Given the description of an element on the screen output the (x, y) to click on. 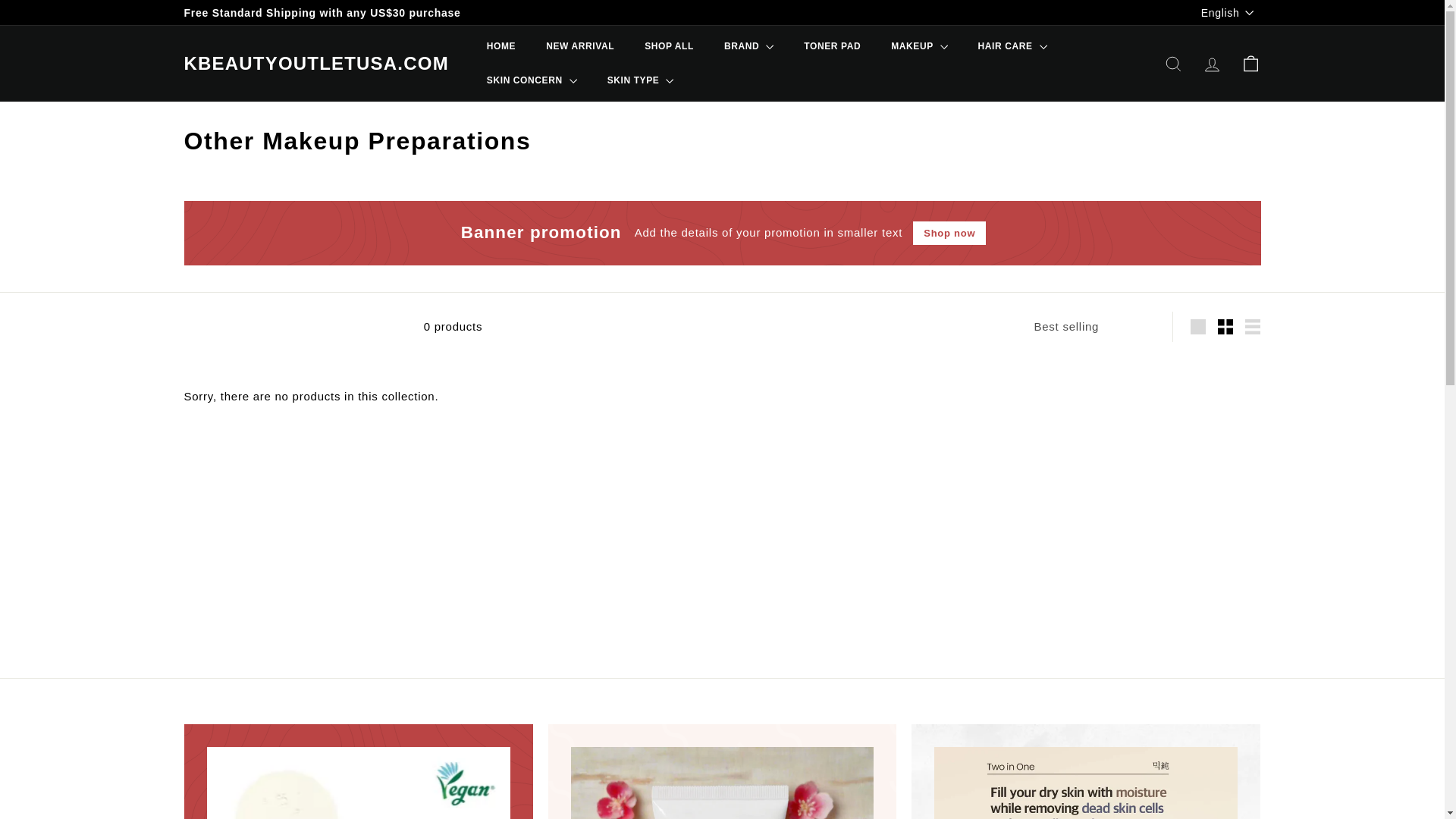
English (1230, 12)
KBEAUTYOUTLETUSA.COM (315, 63)
NEW ARRIVAL (579, 46)
HOME (501, 46)
SHOP ALL (668, 46)
List (1252, 327)
Large (1198, 327)
Small (1225, 327)
